Given the description of an element on the screen output the (x, y) to click on. 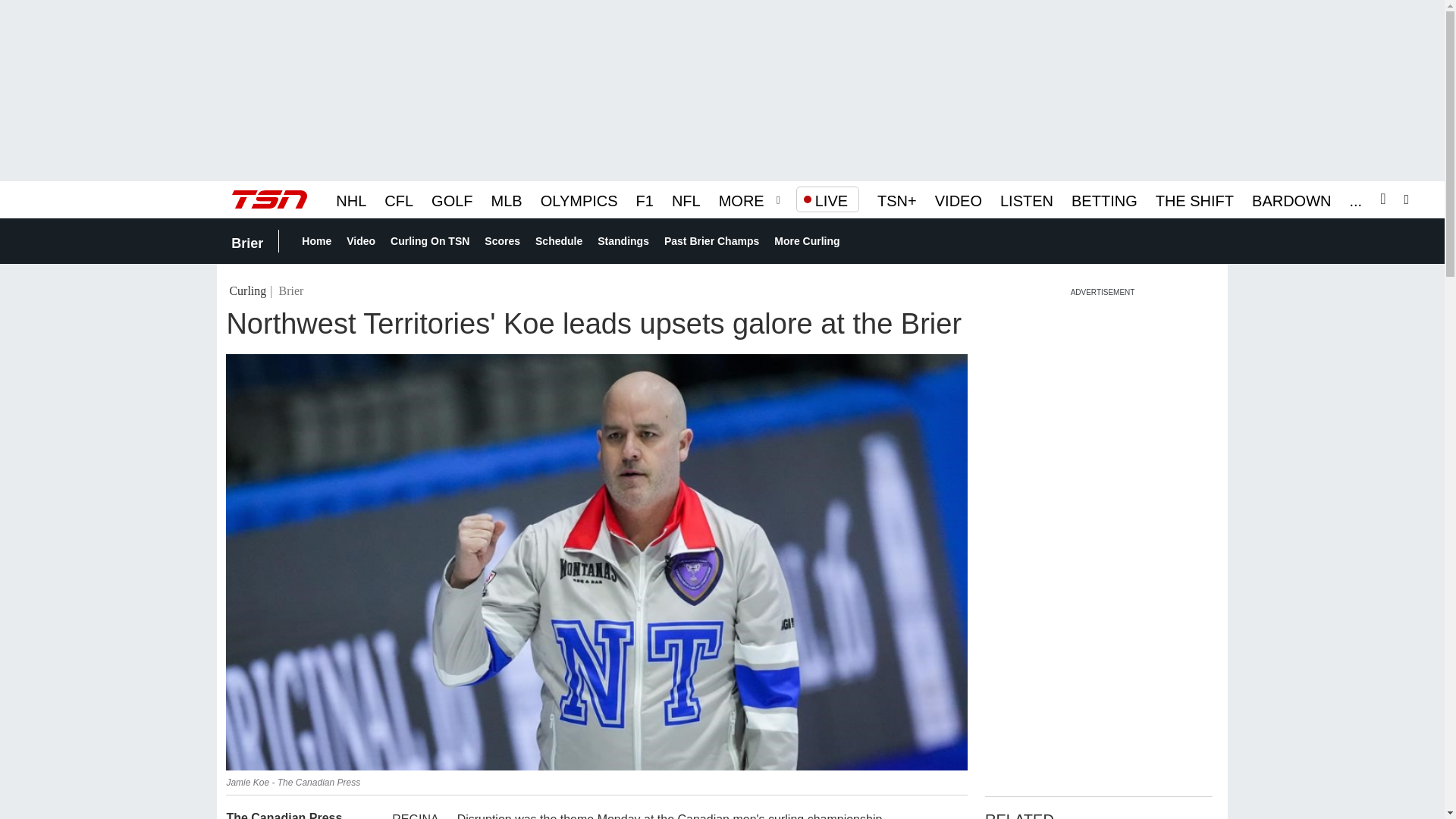
OLYMPICS (578, 199)
GOLF (450, 199)
CFL (398, 199)
ADVERTISEMENT (1102, 290)
MORE (741, 199)
NHL (351, 199)
TSN (269, 199)
MLB (507, 199)
NFL (685, 199)
